Given the description of an element on the screen output the (x, y) to click on. 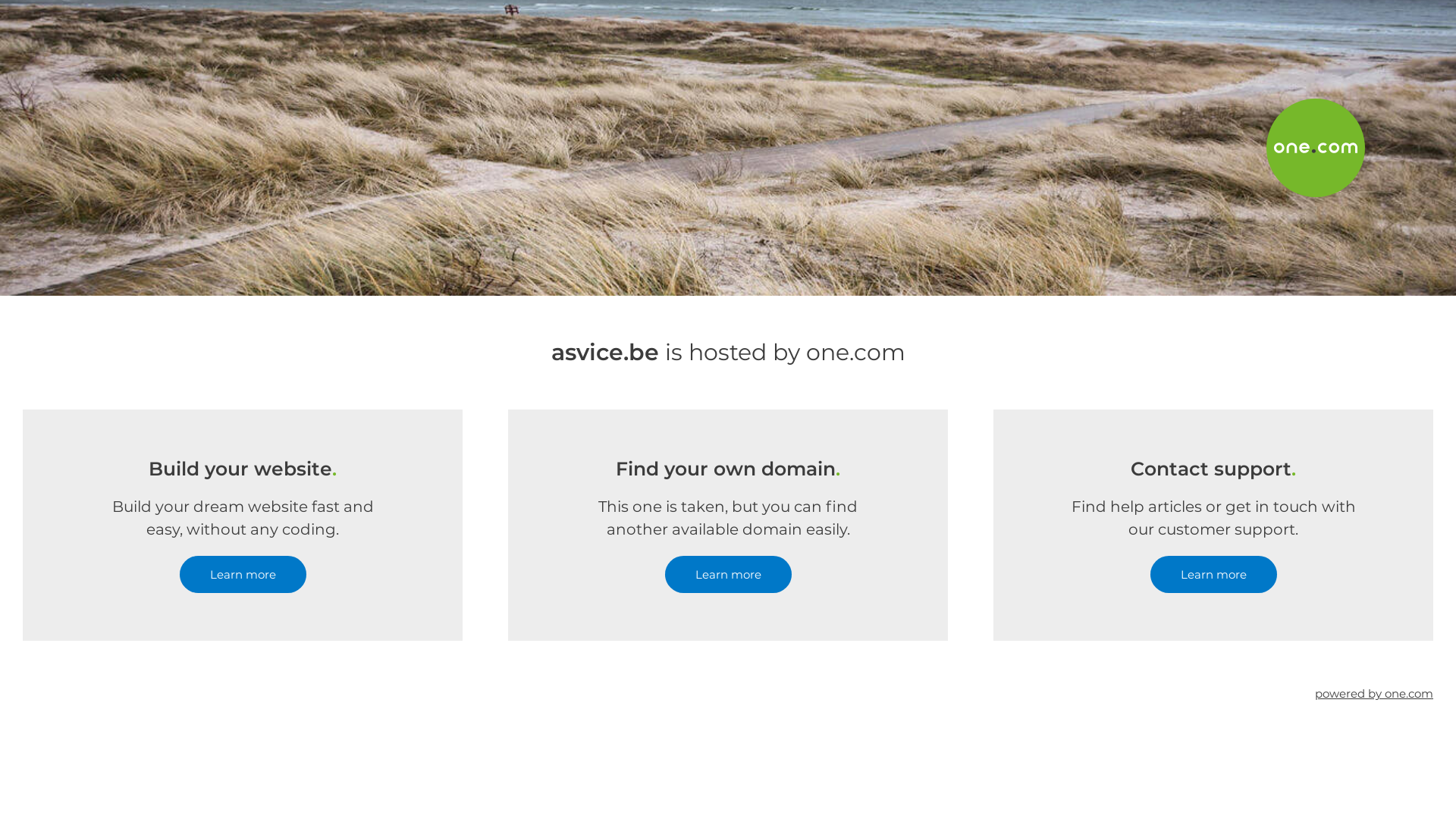
powered by one.com Element type: text (1373, 693)
Learn more Element type: text (1212, 574)
Learn more Element type: text (241, 574)
Learn more Element type: text (727, 574)
